Given the description of an element on the screen output the (x, y) to click on. 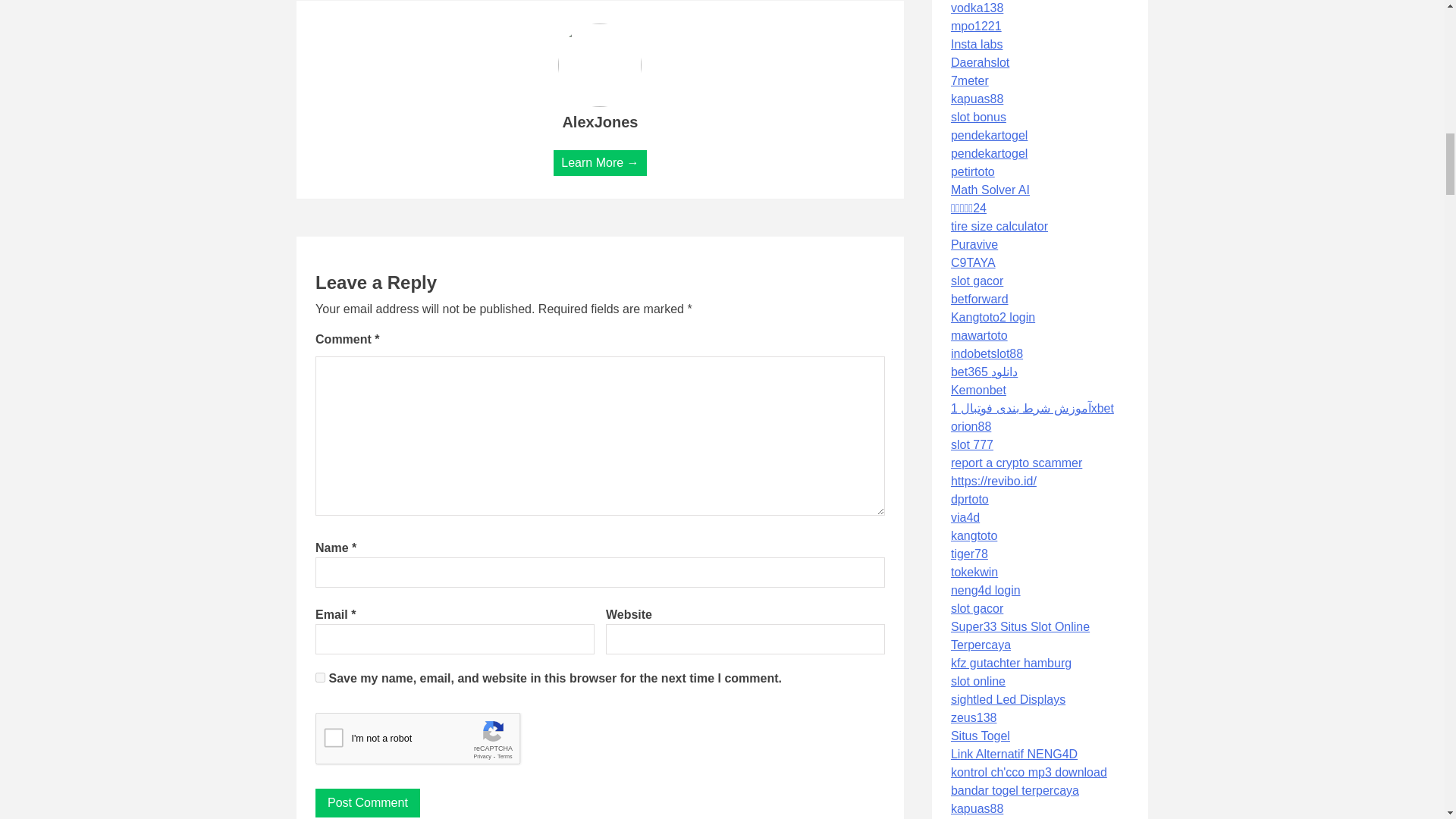
Post Comment (367, 802)
yes (319, 677)
reCAPTCHA (430, 742)
Post Comment (367, 802)
